Given the description of an element on the screen output the (x, y) to click on. 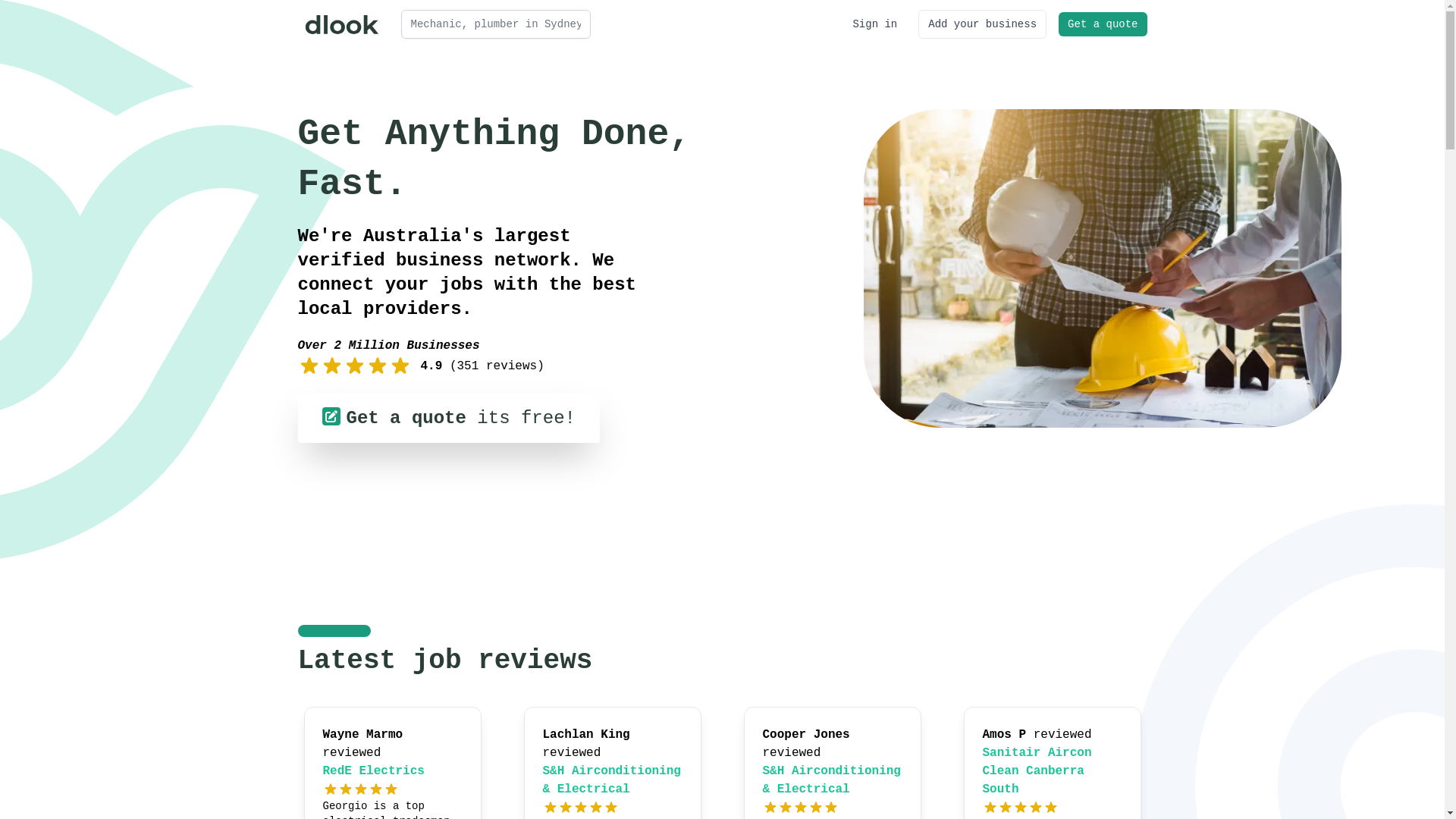
Sanitair Aircon Clean Canberra South Element type: text (1037, 771)
S&H Airconditioning & Electrical Element type: text (611, 780)
Sign in Element type: text (874, 23)
Get a quote Element type: text (1102, 24)
Get a quote its free! Element type: text (448, 417)
Add your business Element type: text (982, 23)
RedE Electrics Element type: text (373, 771)
S&H Airconditioning & Electrical Element type: text (831, 780)
